Given the description of an element on the screen output the (x, y) to click on. 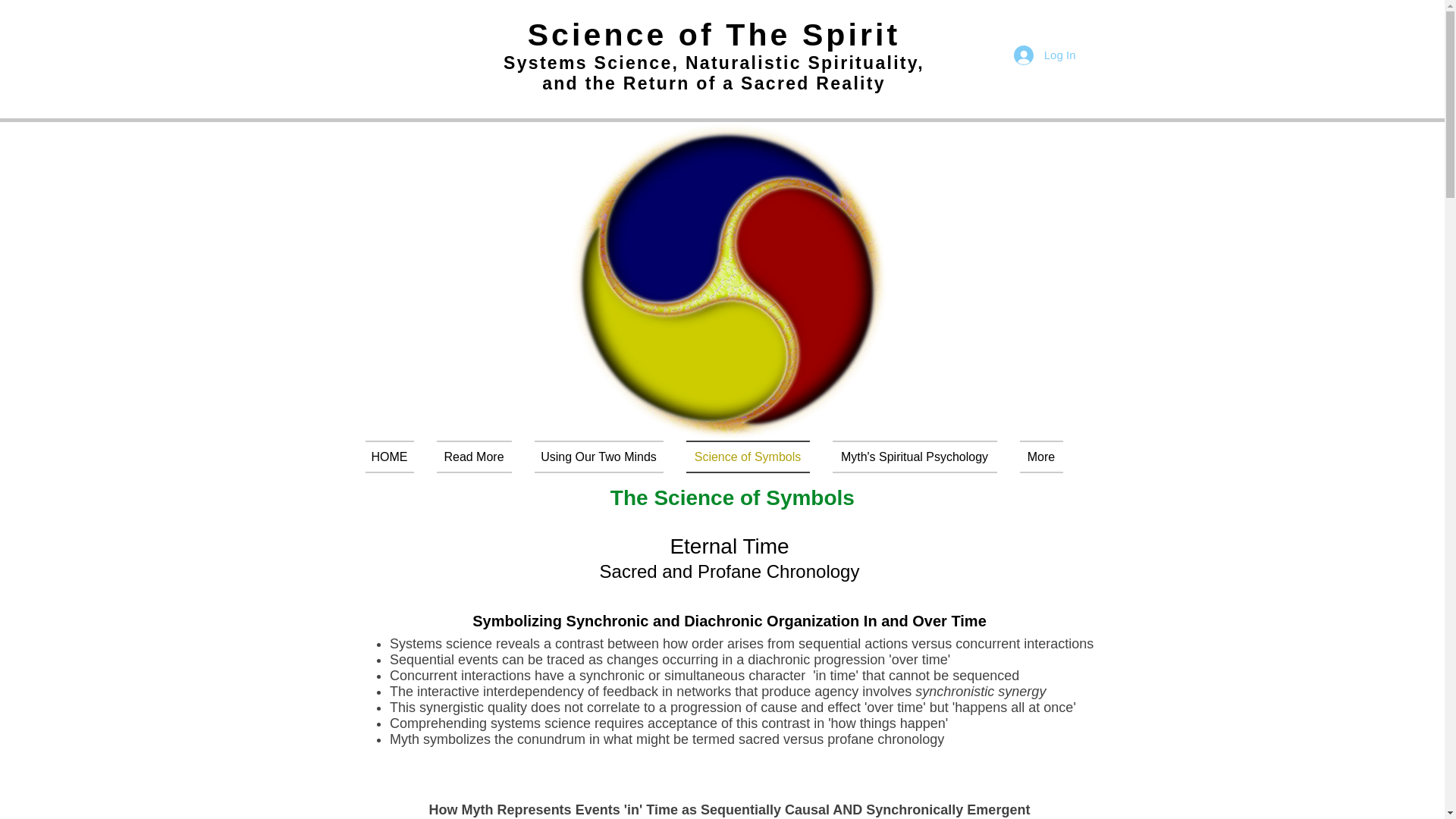
Using Our Two Minds (598, 456)
Log In (1044, 54)
Myth's Spiritual Psychology (914, 456)
Read More (473, 456)
Science of Symbols (748, 456)
HOME (395, 456)
